Given the description of an element on the screen output the (x, y) to click on. 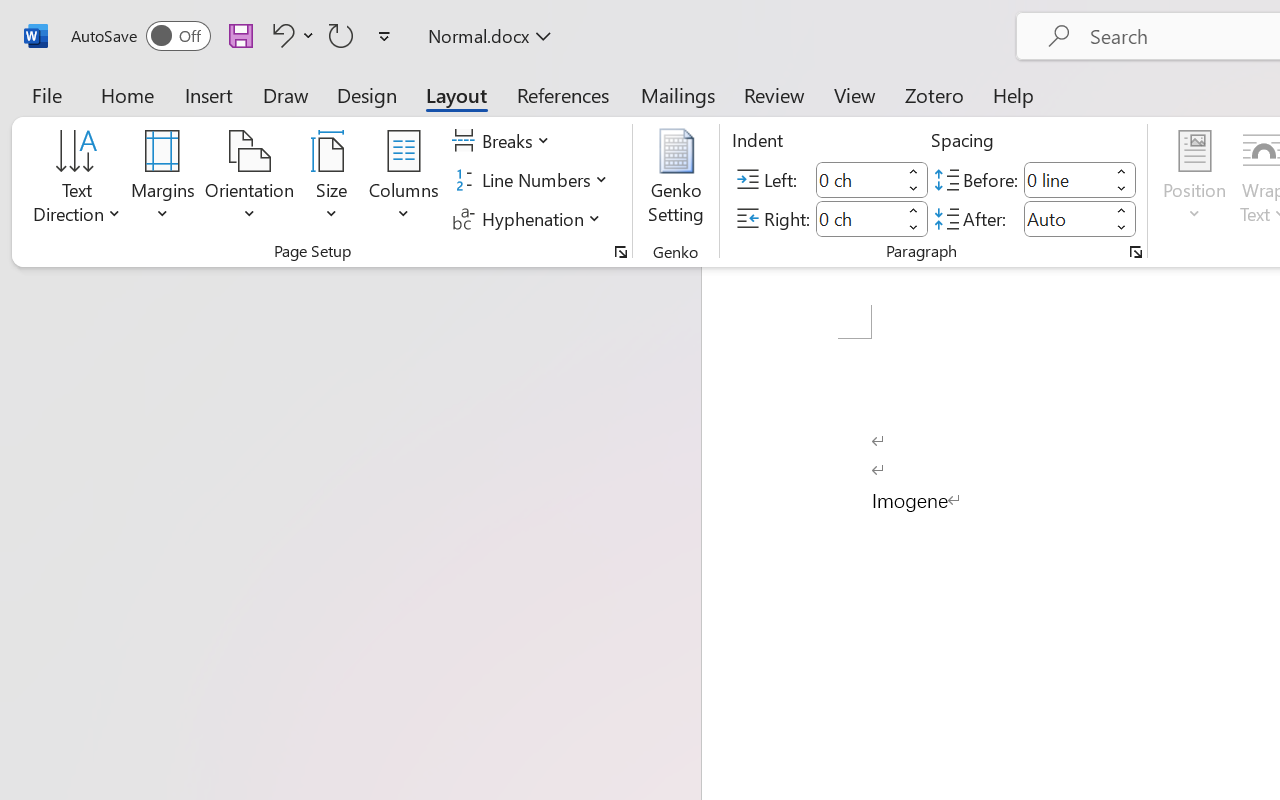
Spacing After (1066, 218)
Page Setup... (621, 252)
Indent Right (858, 218)
Orientation (250, 179)
Spacing Before (1066, 179)
